Given the description of an element on the screen output the (x, y) to click on. 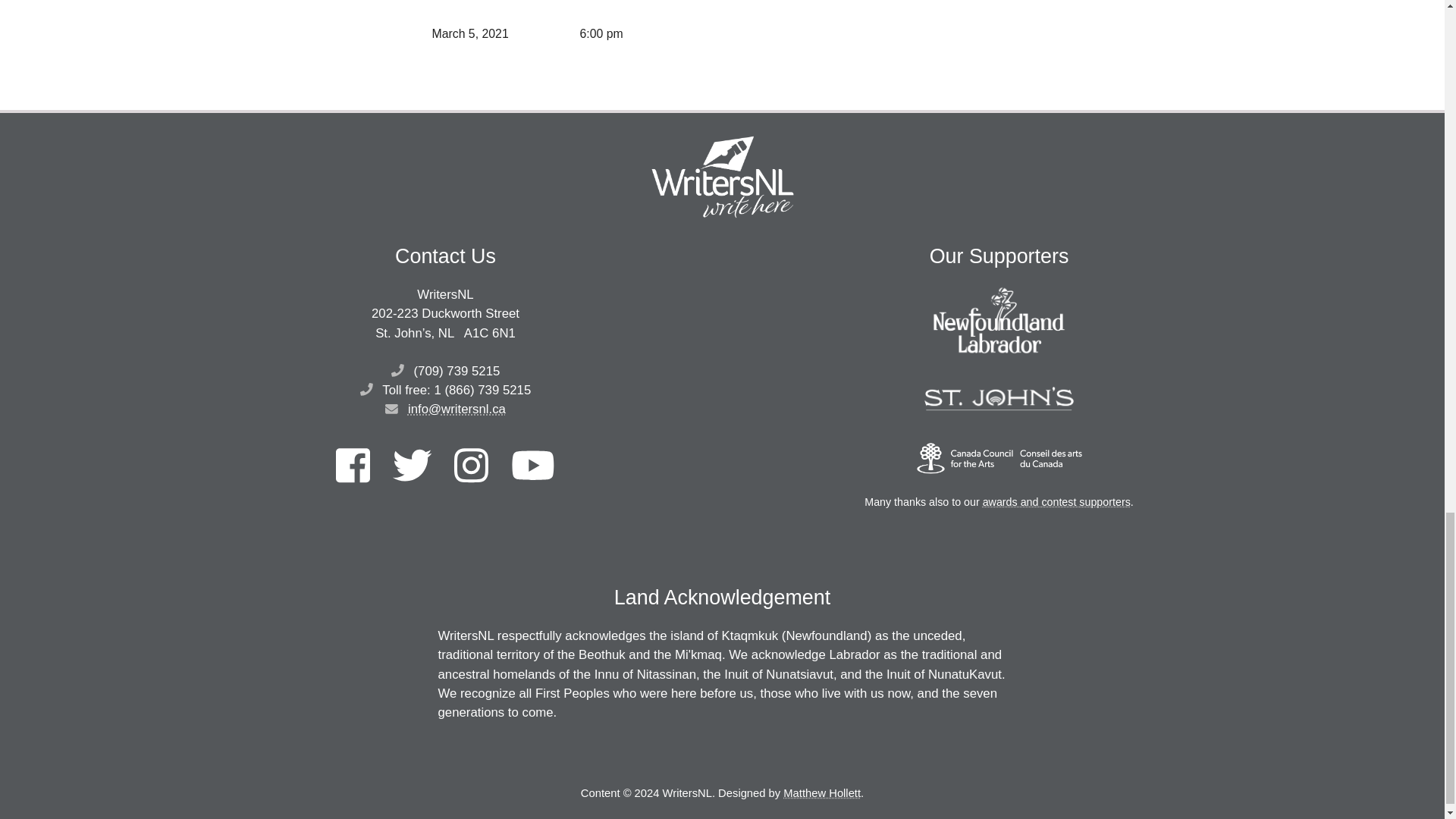
Canada Council (999, 458)
WritersNL on Twitter (411, 465)
City of St. John's (999, 398)
WritersNL on YouTube (532, 465)
Newfoundland and Labrador (999, 320)
